Given the description of an element on the screen output the (x, y) to click on. 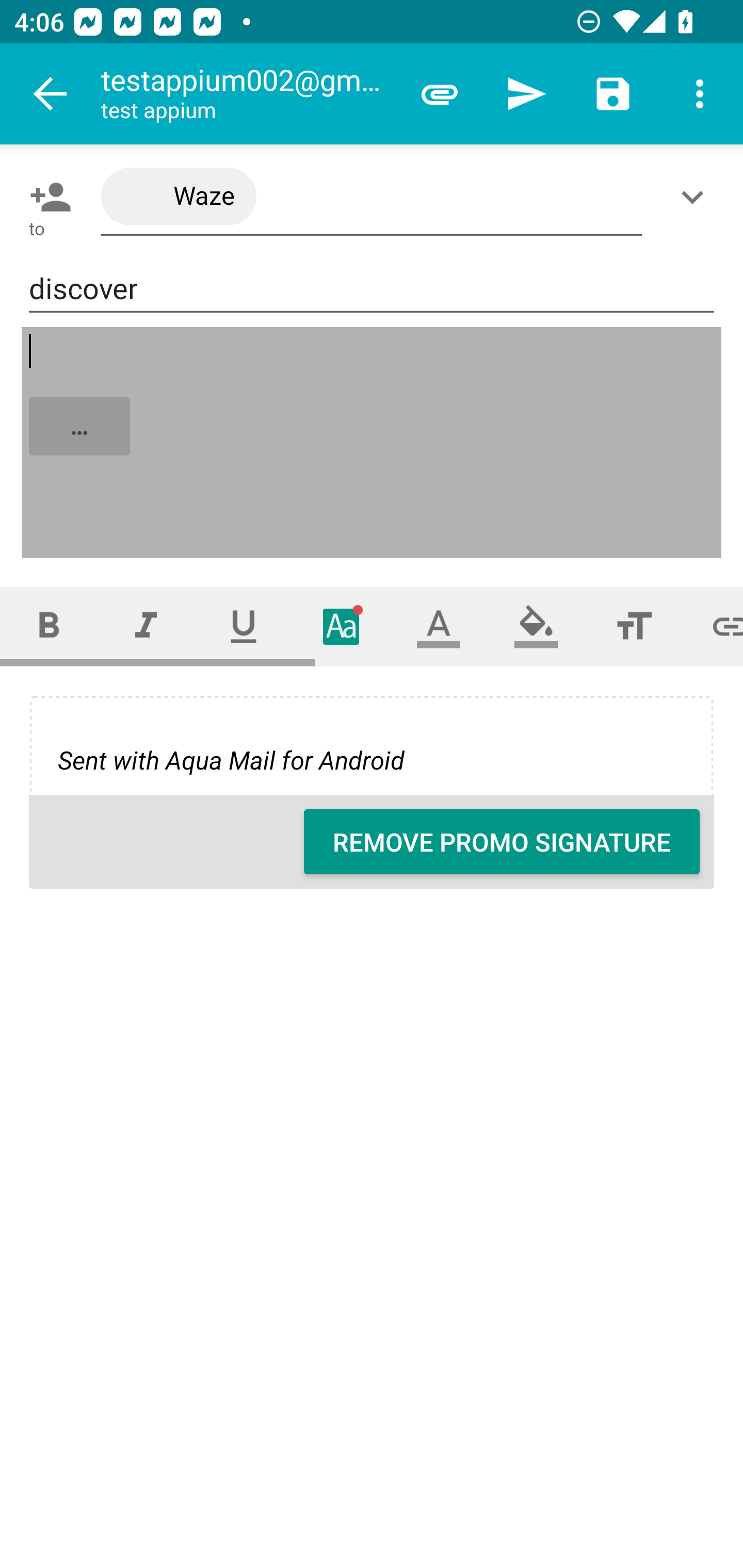
Navigate up (50, 93)
testappium002@gmail.com test appium (248, 93)
Attach (439, 93)
Send (525, 93)
Save (612, 93)
More options (699, 93)
Waze <noreply@waze.com>,  (371, 197)
Pick contact: To (46, 196)
Show/Add CC/BCC (696, 196)
discover (371, 288)

…
 (372, 442)
Bold (48, 626)
Italic (145, 626)
Underline (243, 626)
Typeface (font) (341, 626)
Text color (438, 626)
Fill color (536, 626)
Font size (633, 626)
REMOVE PROMO SIGNATURE (501, 841)
